Given the description of an element on the screen output the (x, y) to click on. 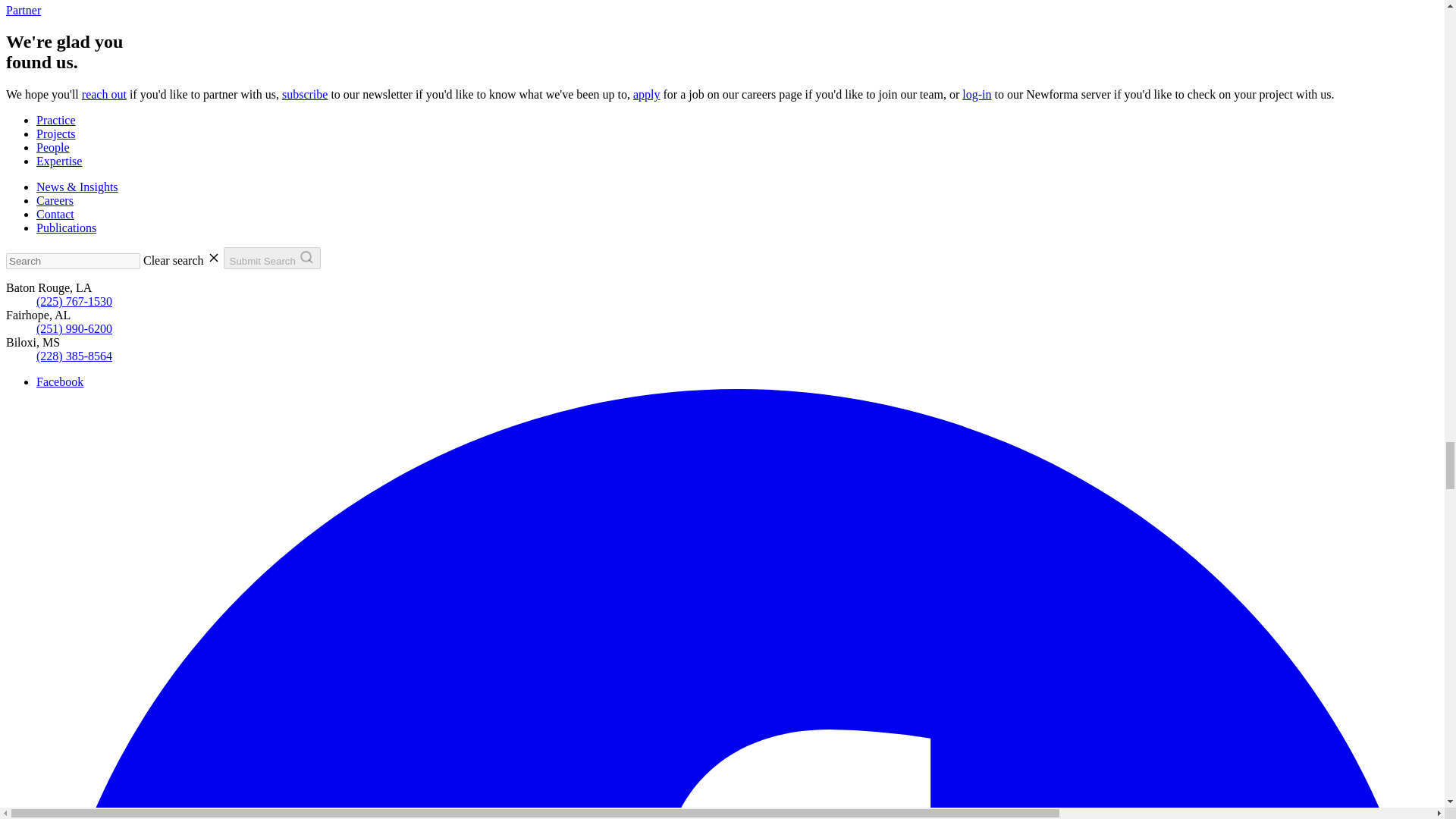
Practice (55, 119)
Clear search (183, 259)
reach out (721, 8)
log-in (103, 93)
Submit Search (976, 93)
subscribe (272, 258)
apply (304, 93)
